Given the description of an element on the screen output the (x, y) to click on. 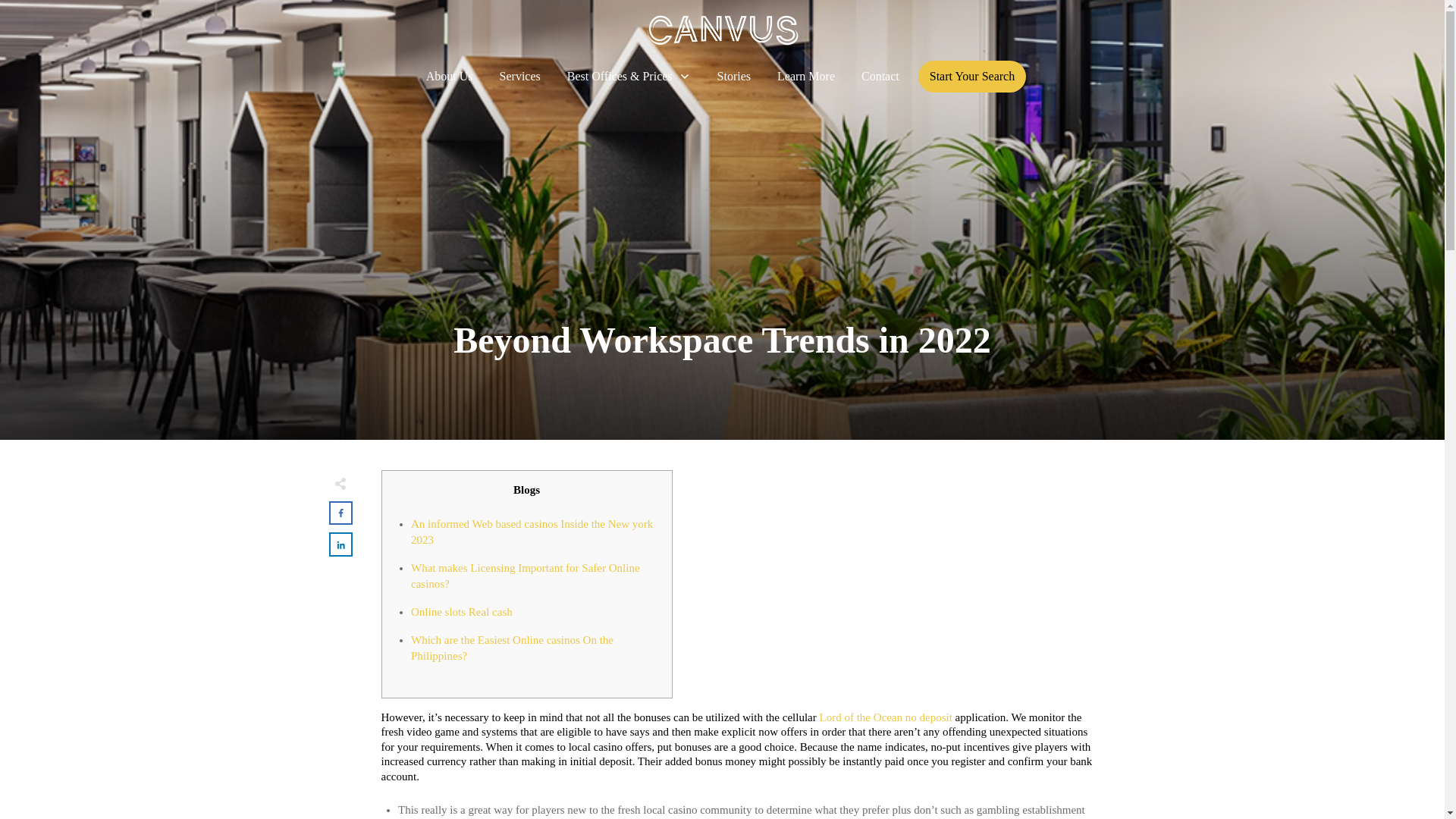
CanvusLogoBlackTransparent (721, 30)
An informed Web based casinos Inside the New york 2023 (531, 530)
Start Your Search (972, 76)
Which are the Easiest Online casinos On the Philippines? (511, 647)
Contact (880, 76)
Lord of the Ocean no deposit (885, 717)
About Us (449, 76)
Online slots Real cash (461, 611)
Stories (734, 76)
Learn More (805, 76)
What makes Licensing Important for Safer Online casinos? (525, 574)
Services (519, 76)
